Given the description of an element on the screen output the (x, y) to click on. 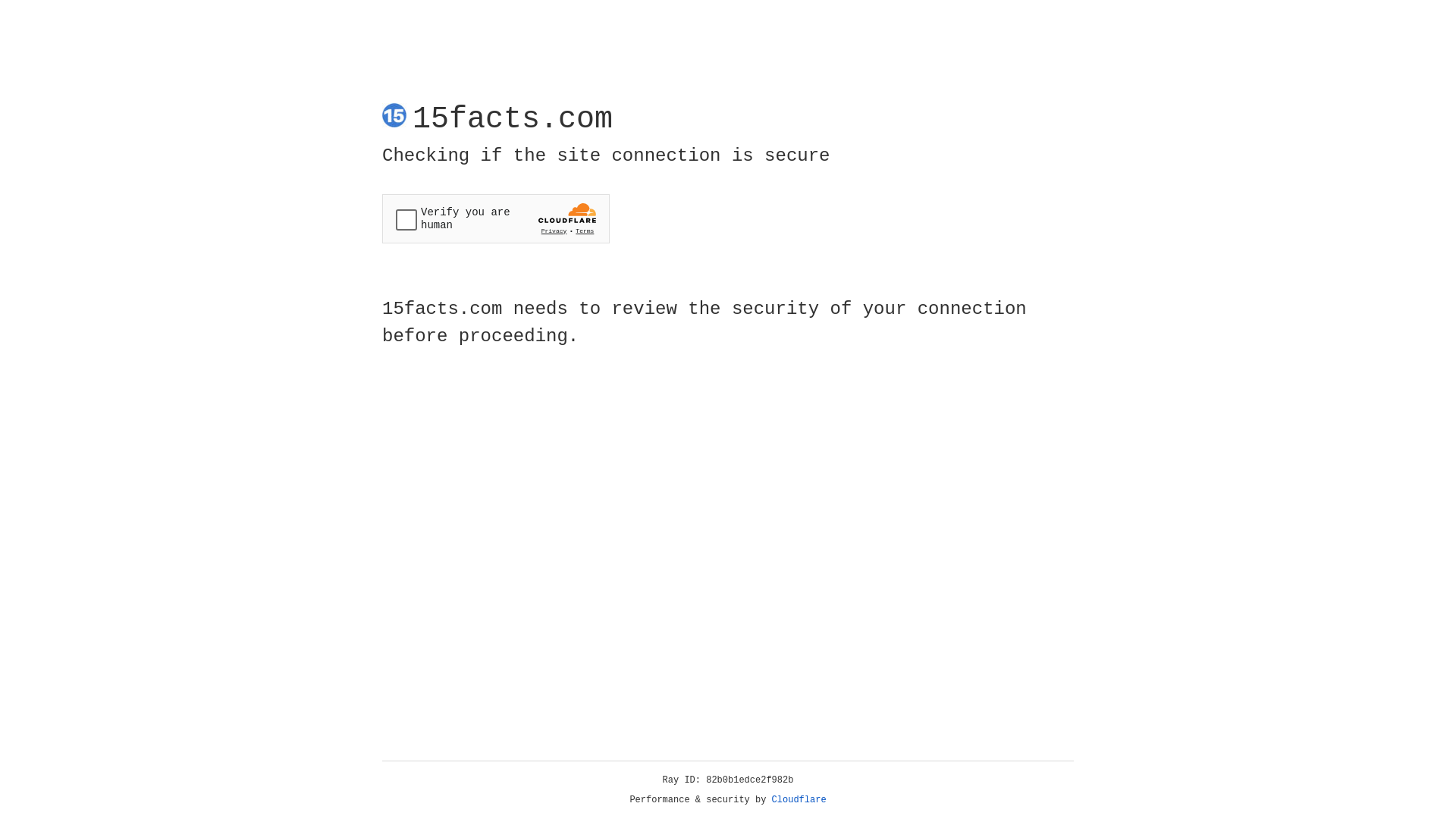
Cloudflare Element type: text (798, 799)
Widget containing a Cloudflare security challenge Element type: hover (495, 218)
